Given the description of an element on the screen output the (x, y) to click on. 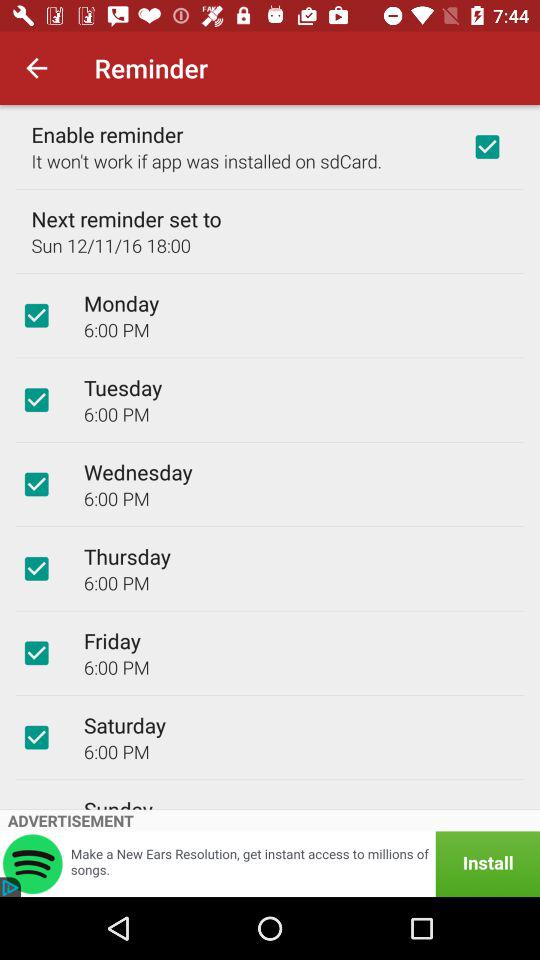
select the icon next to the friday icon (36, 653)
